Given the description of an element on the screen output the (x, y) to click on. 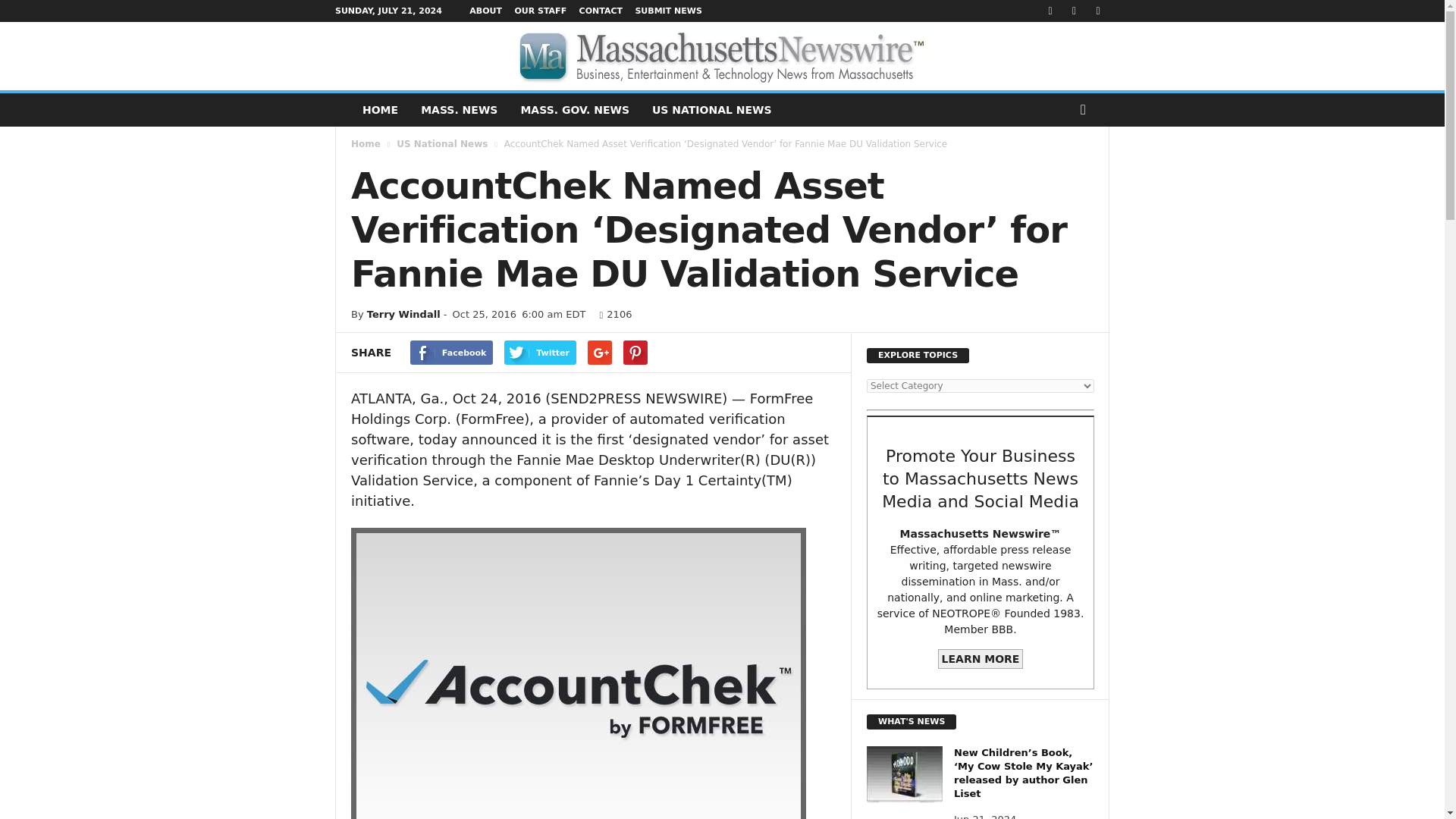
Terry Windall (403, 314)
Home Page (379, 109)
MASS. NEWS (458, 109)
MASS. GOV. NEWS (574, 109)
View all posts in US National News (441, 143)
US NATIONAL NEWS (711, 109)
Twitter (539, 352)
SUBMIT NEWS (667, 10)
OUR STAFF (539, 10)
Mass. Government News (574, 109)
US National News (441, 143)
ABOUT (485, 10)
Massachusetts News (458, 109)
HOME (379, 109)
Home (365, 143)
